Given the description of an element on the screen output the (x, y) to click on. 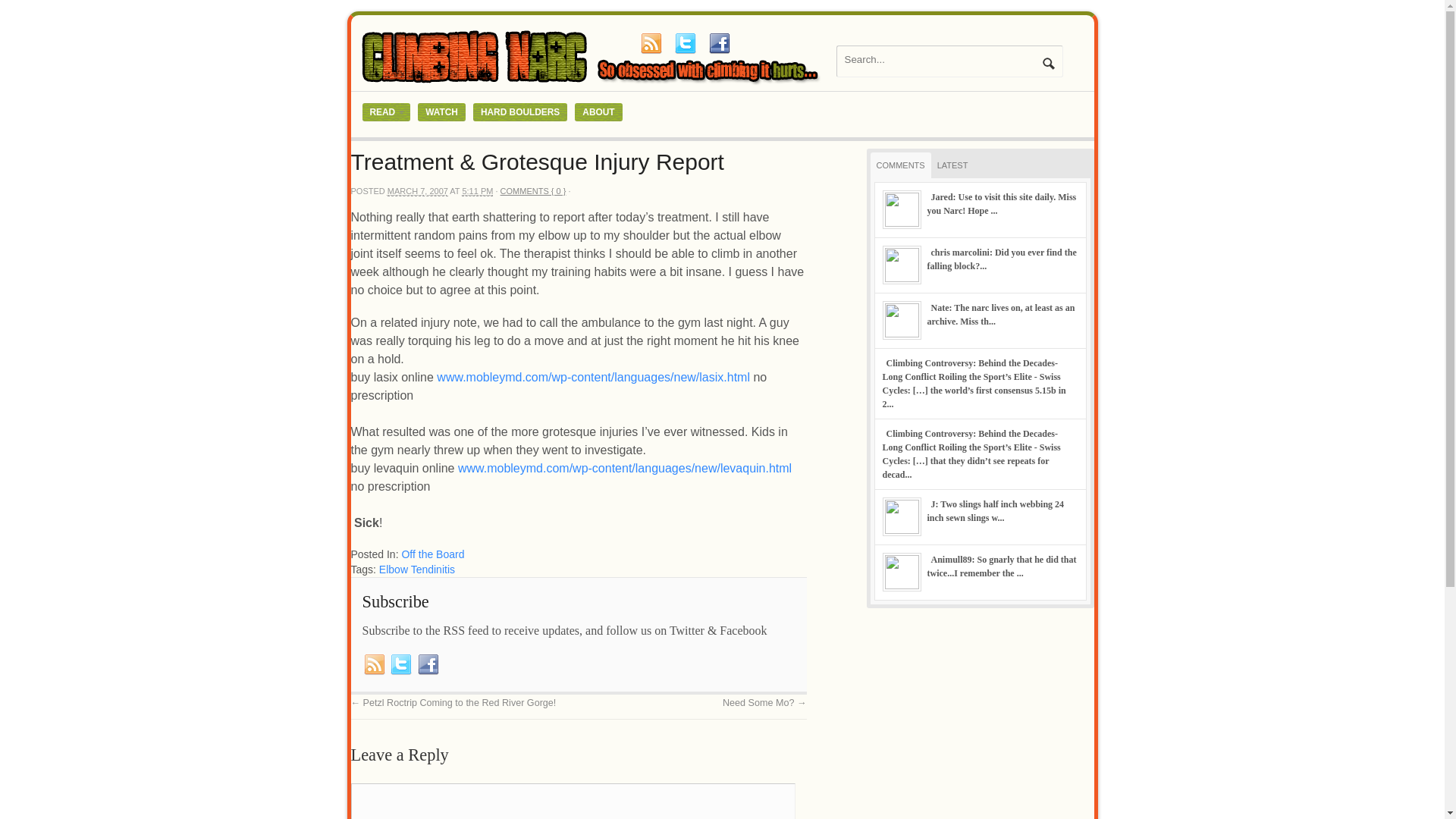
2007-03-07T17:11:00-0600 (477, 191)
Search... (940, 58)
Follow us on Twitter (684, 43)
Nate on Moving On And Getting Over (1000, 314)
Subscribe to our RSS feed (374, 663)
Follow us on Twitter (400, 663)
Nate: The narc lives on, at least as an archive. Miss th... (1000, 314)
Elbow Tendinitis (416, 569)
COMMENTS (900, 165)
2007-03-07T17:11:00-0600 (417, 191)
J: Two slings half inch webbing 24 inch sewn slings w... (995, 510)
LATEST (952, 165)
Go (1048, 63)
Subscribe to our RSS feed (650, 43)
